Given the description of an element on the screen output the (x, y) to click on. 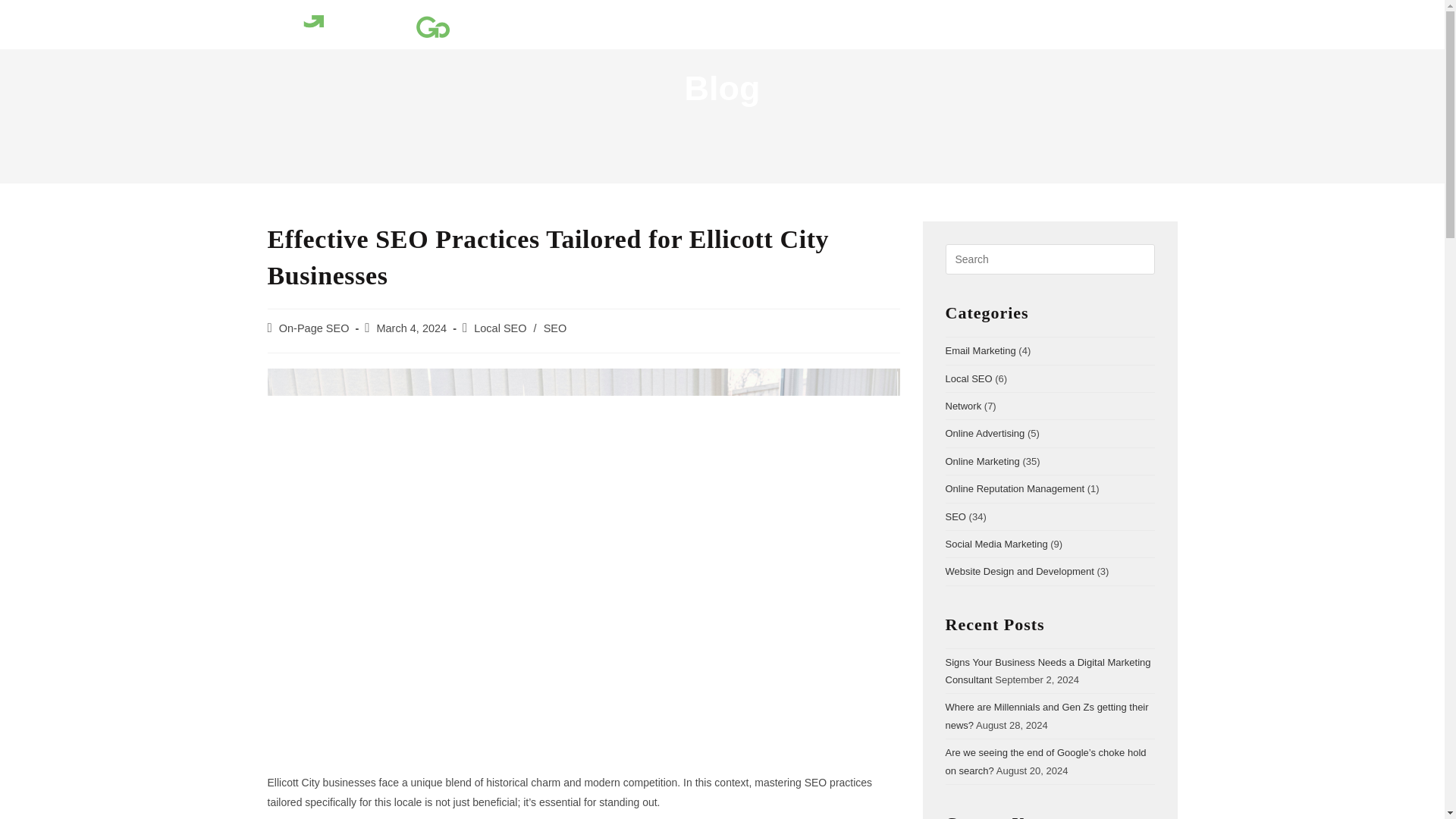
About Us (703, 22)
Reviews (960, 22)
Contact (1097, 22)
Support (1029, 22)
Posts by On-Page SEO (314, 328)
Pricing (842, 22)
Blog (900, 22)
Services (776, 22)
